Given the description of an element on the screen output the (x, y) to click on. 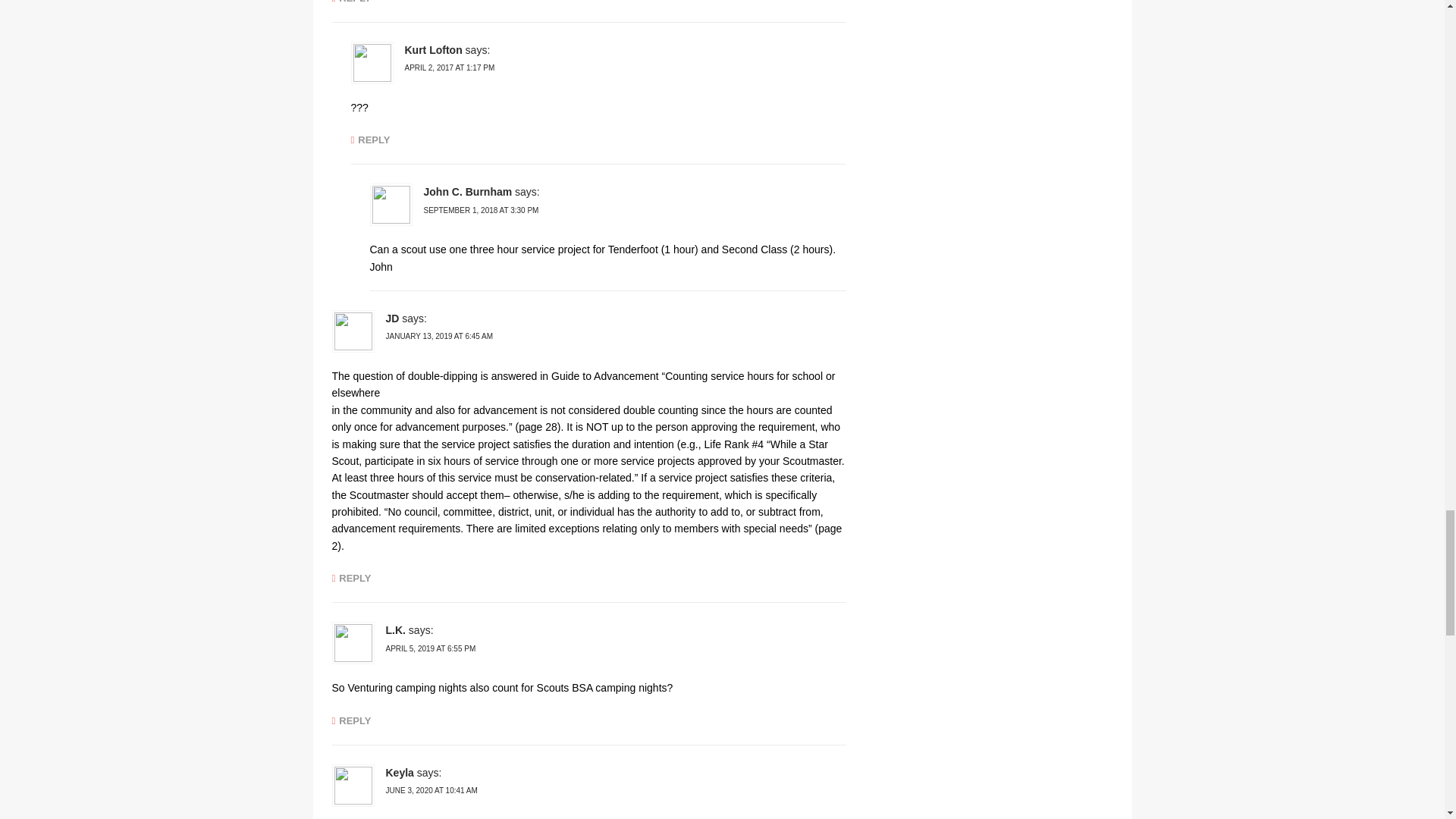
REPLY (351, 1)
APRIL 2, 2017 AT 1:17 PM (449, 67)
REPLY (370, 139)
SEPTEMBER 1, 2018 AT 3:30 PM (480, 210)
